Given the description of an element on the screen output the (x, y) to click on. 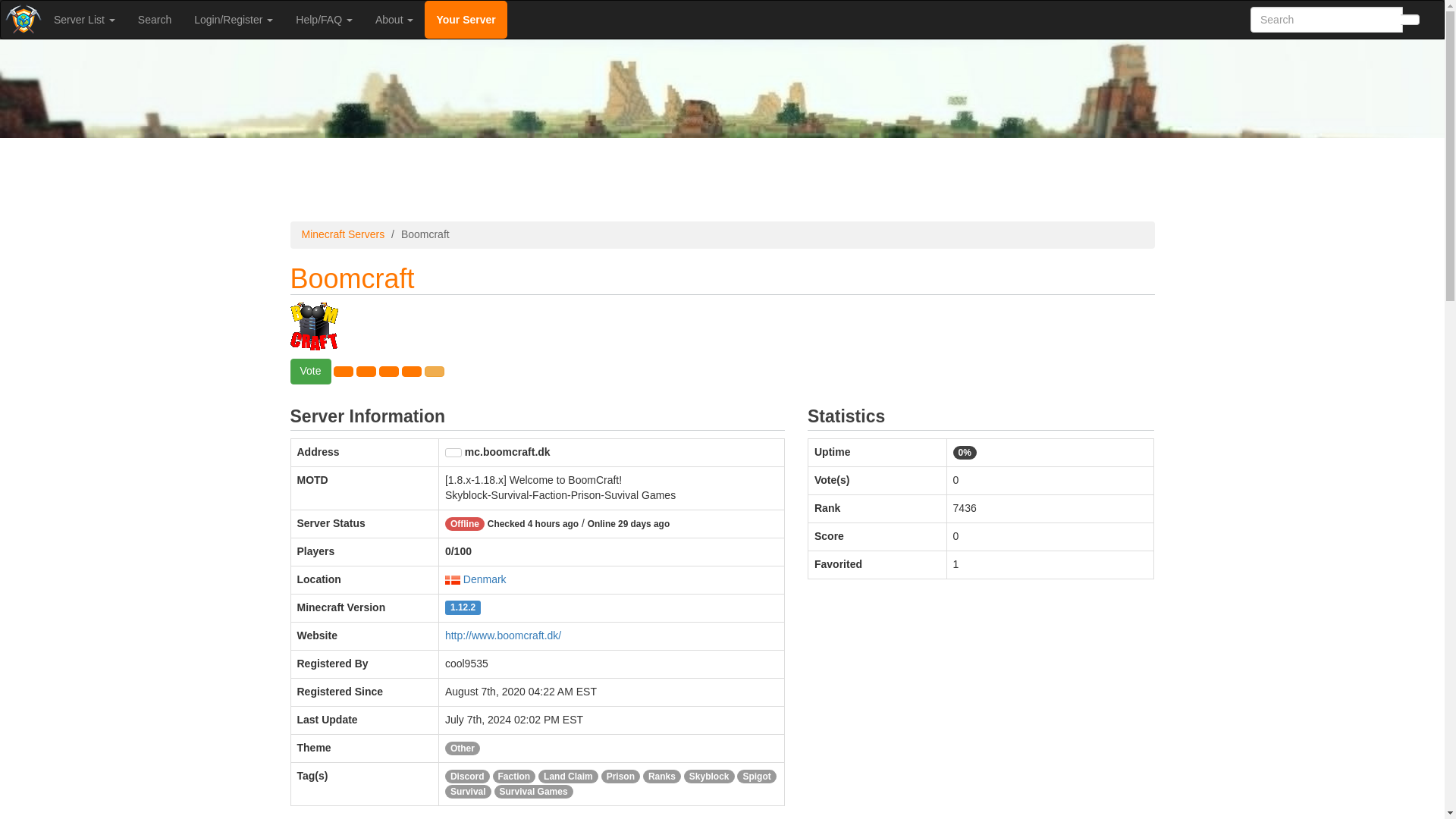
Click to copy the server address. (453, 452)
Add To Favorites (411, 371)
Minecraft Servers (343, 234)
Report (434, 371)
Your Server (465, 19)
Minecraft Land Claim Servers (568, 775)
Minecraft Servers Without Defined Theme (462, 748)
Minecraft 1.12.2 Servers (462, 607)
Search (154, 19)
Server List (84, 19)
Ping (388, 371)
About (394, 19)
Minecraft Servers In Denmark (484, 579)
Vote (309, 371)
Minecraft Skyblock Servers (709, 775)
